Given the description of an element on the screen output the (x, y) to click on. 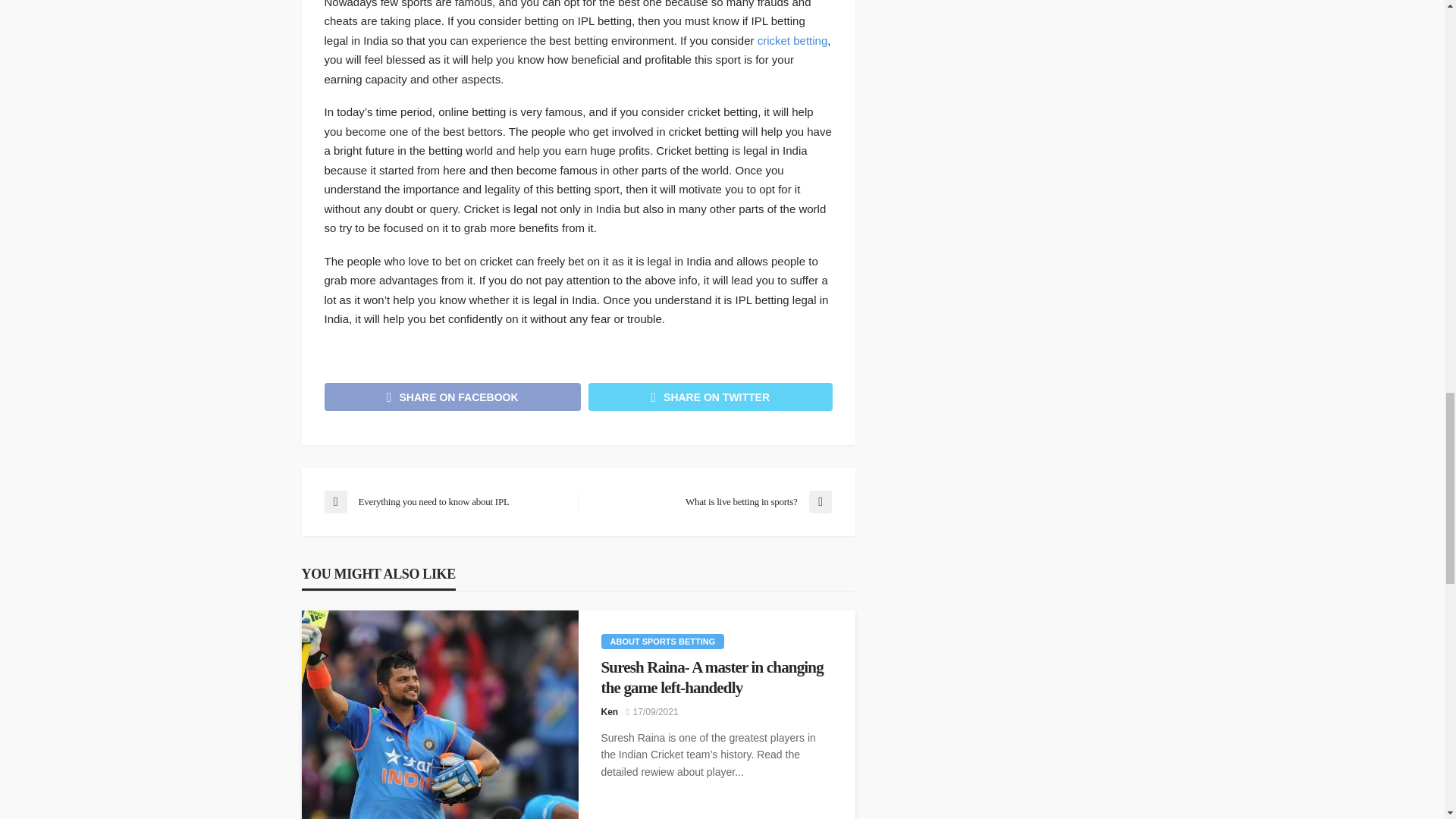
Suresh Raina- A master in changing the game left-handedly (439, 714)
What is live betting in sports? (711, 501)
Everything you need to know about IPL (443, 501)
ABOUT SPORTS BETTING (661, 641)
Ken (608, 711)
SHARE ON TWITTER (709, 397)
Suresh Raina- A master in changing the game left-handedly (715, 677)
cricket betting (792, 40)
Everything you need to know about IPL (443, 501)
SHARE ON FACEBOOK (452, 397)
About Sports Betting (661, 641)
What is live betting in sports? (711, 501)
Suresh Raina- A master in changing the game left-handedly (715, 677)
